Given the description of an element on the screen output the (x, y) to click on. 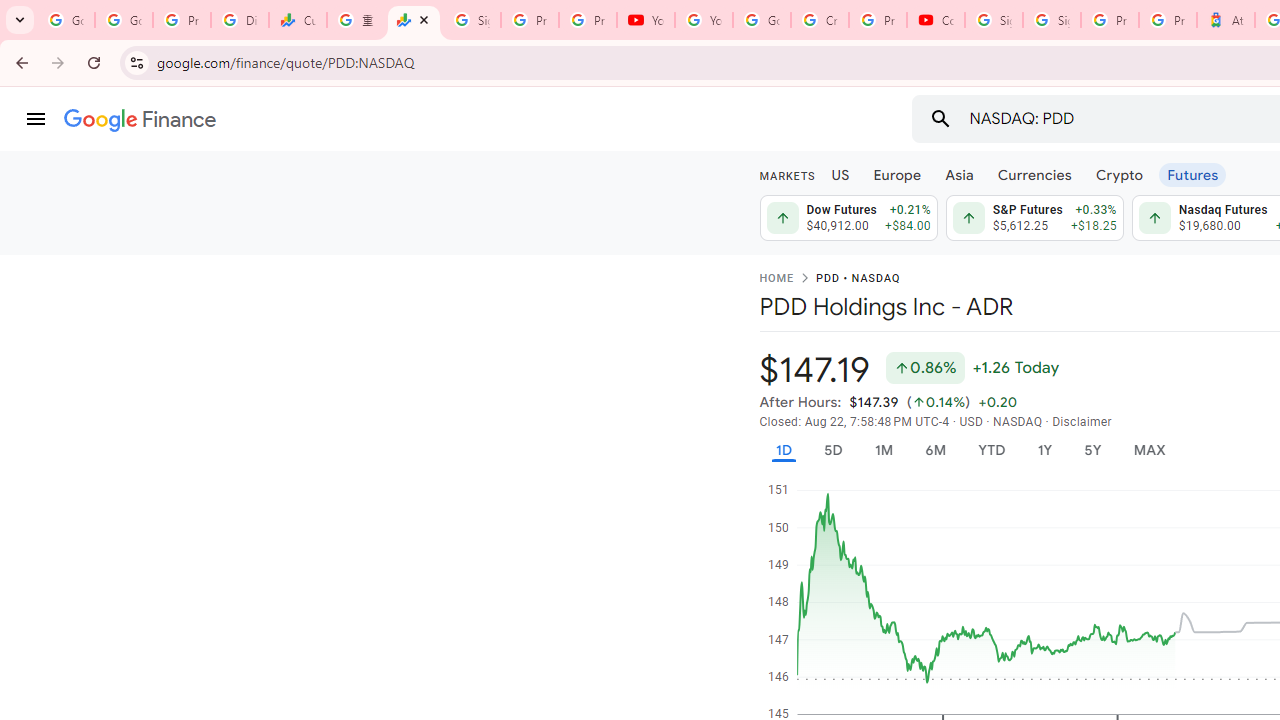
PDD Holdings Inc - ADR (PDD) Price & News - Google Finance (413, 20)
Currencies (1034, 174)
S&P Futures $5,612.25 Up by 0.34% +$18.25 (1033, 218)
YTD (991, 449)
Google Account Help (762, 20)
1M (882, 449)
Disclaimer (1082, 421)
Content Creator Programs & Opportunities - YouTube Creators (936, 20)
Europe (897, 174)
